Given the description of an element on the screen output the (x, y) to click on. 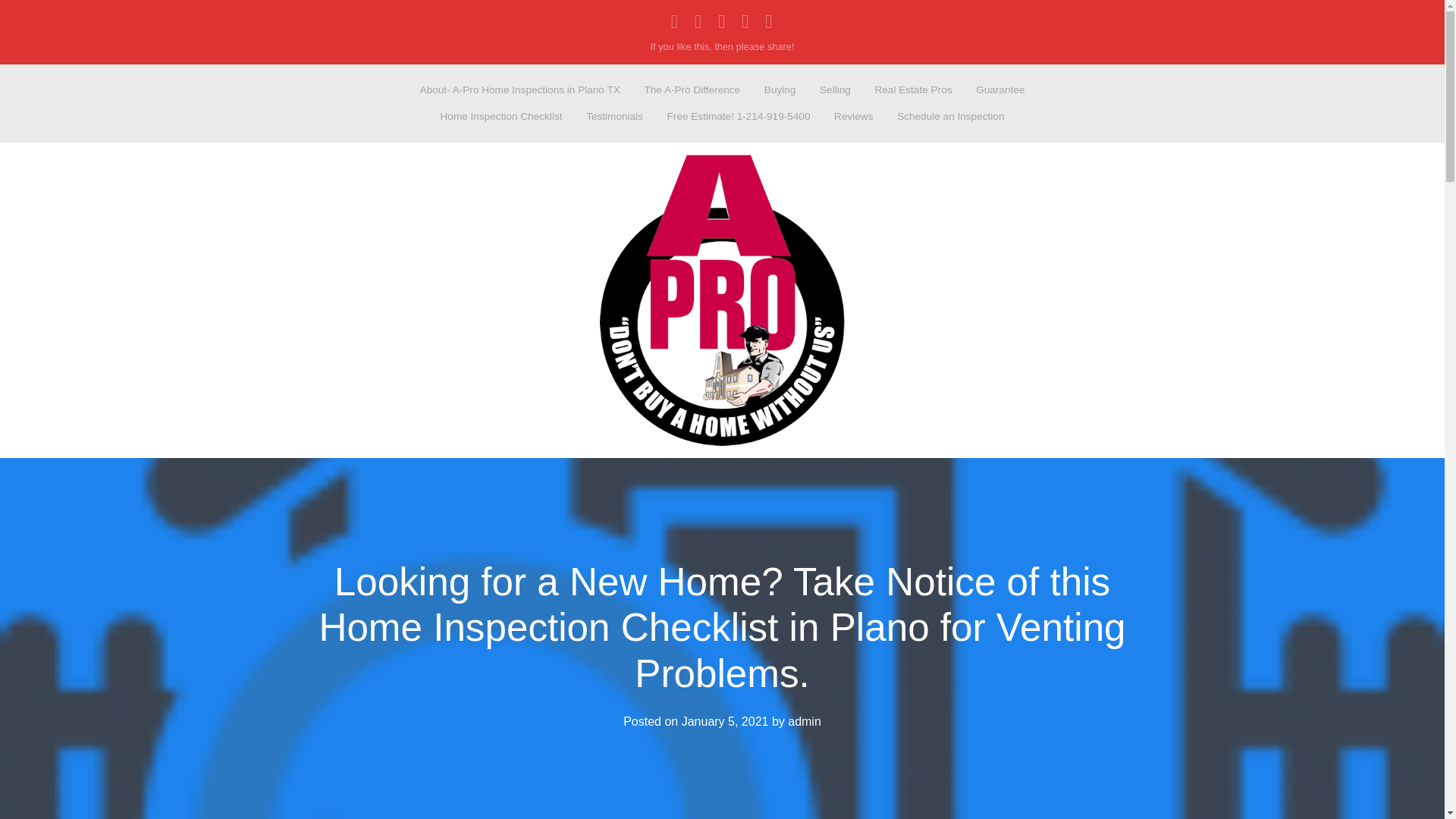
Guarantee (1000, 89)
Share On Pinterest (768, 21)
Schedule an Inspection (950, 117)
Free Estimate! 1-214-919-5400 (738, 117)
Testimonials (614, 117)
Share On Facebook (675, 21)
Share On Twitter (745, 21)
The A-Pro Difference (692, 89)
admin (804, 721)
Share On Linkedin (698, 21)
Home Inspection Checklist (500, 117)
January 5, 2021 (724, 721)
Real Estate Pros (913, 89)
Reviews (853, 117)
